Given the description of an element on the screen output the (x, y) to click on. 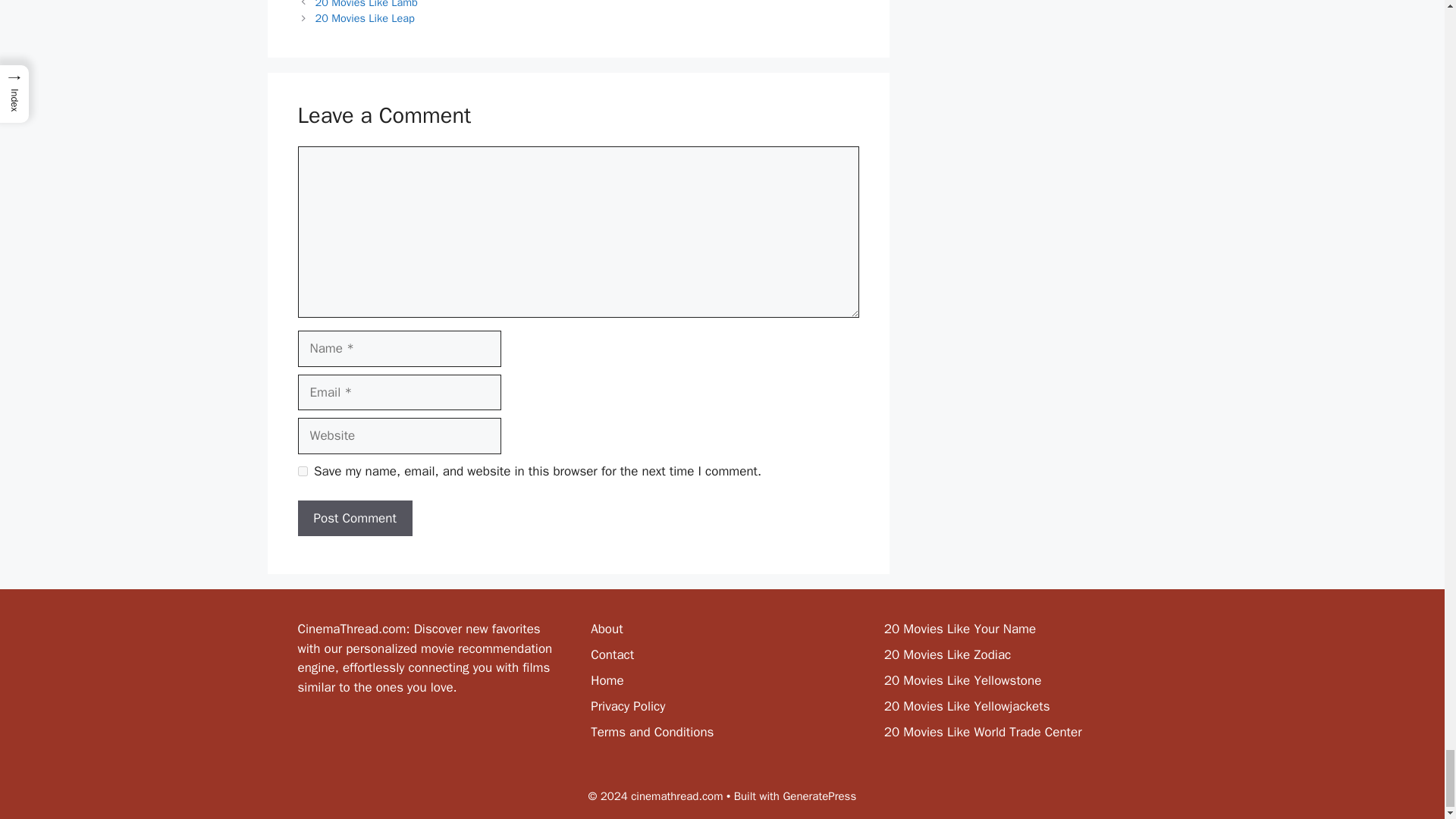
Post Comment (354, 518)
yes (302, 470)
